Given the description of an element on the screen output the (x, y) to click on. 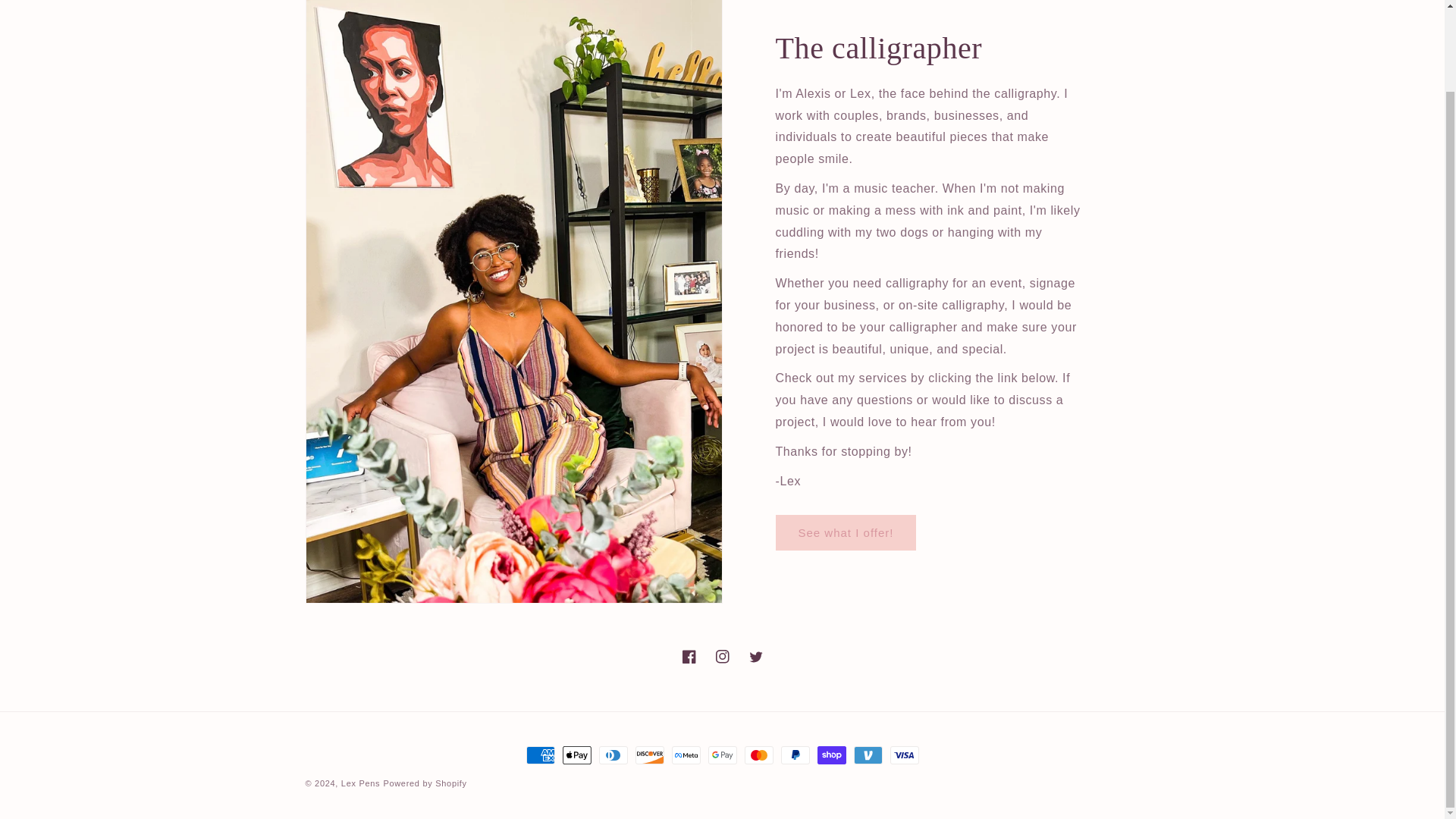
See what I offer! (844, 532)
Twitter (754, 656)
Powered by Shopify (423, 782)
Instagram (721, 656)
Lex Pens (360, 782)
Facebook (687, 656)
